Given the description of an element on the screen output the (x, y) to click on. 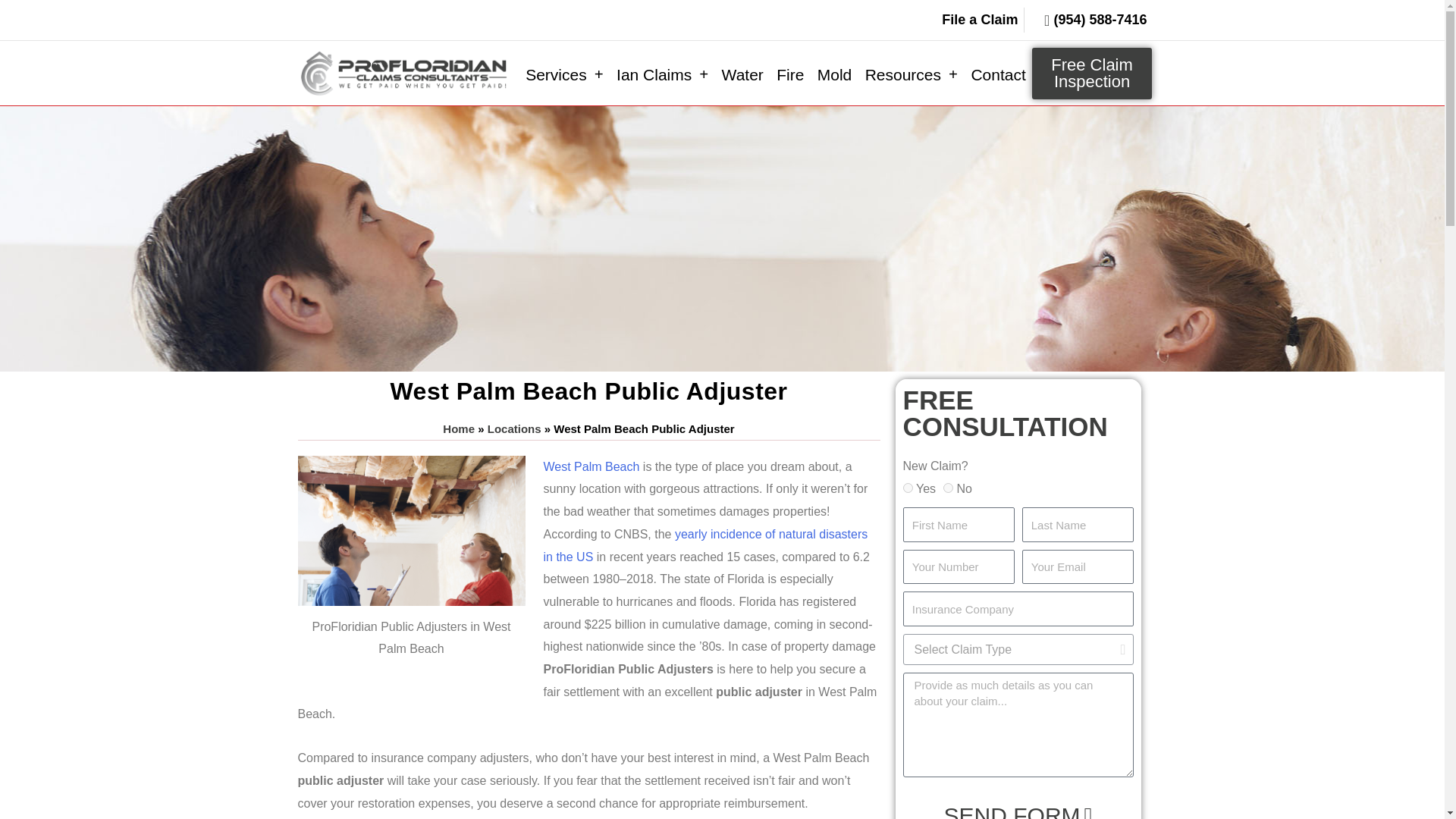
Fire (790, 74)
Yes (907, 488)
Resources (911, 74)
Water (742, 74)
Mold (834, 74)
File a Claim (967, 19)
No (948, 488)
Services (564, 74)
Ian Claims (662, 74)
